Given the description of an element on the screen output the (x, y) to click on. 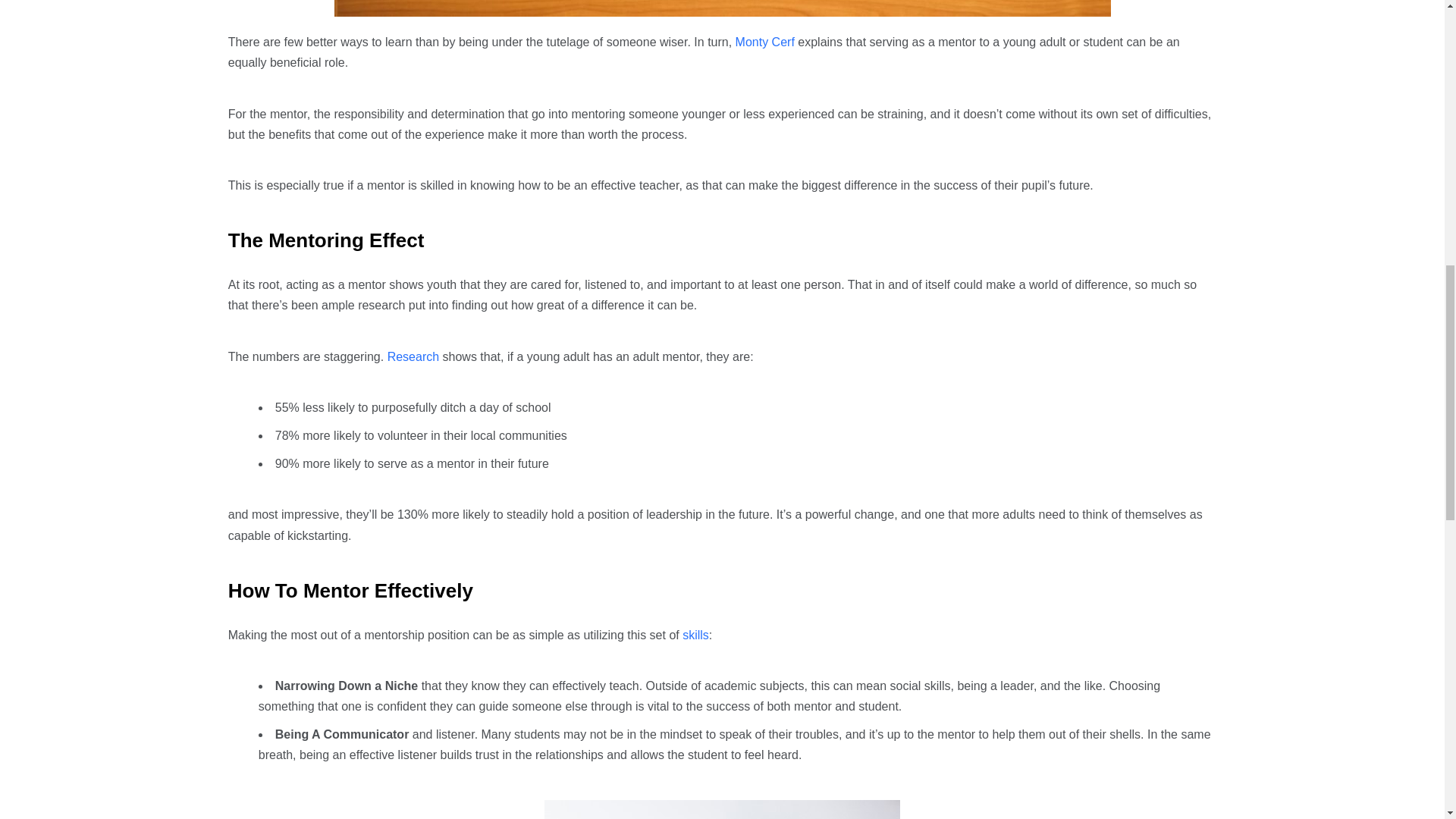
skills (695, 634)
Monty Cerf (764, 42)
Research (413, 356)
